Given the description of an element on the screen output the (x, y) to click on. 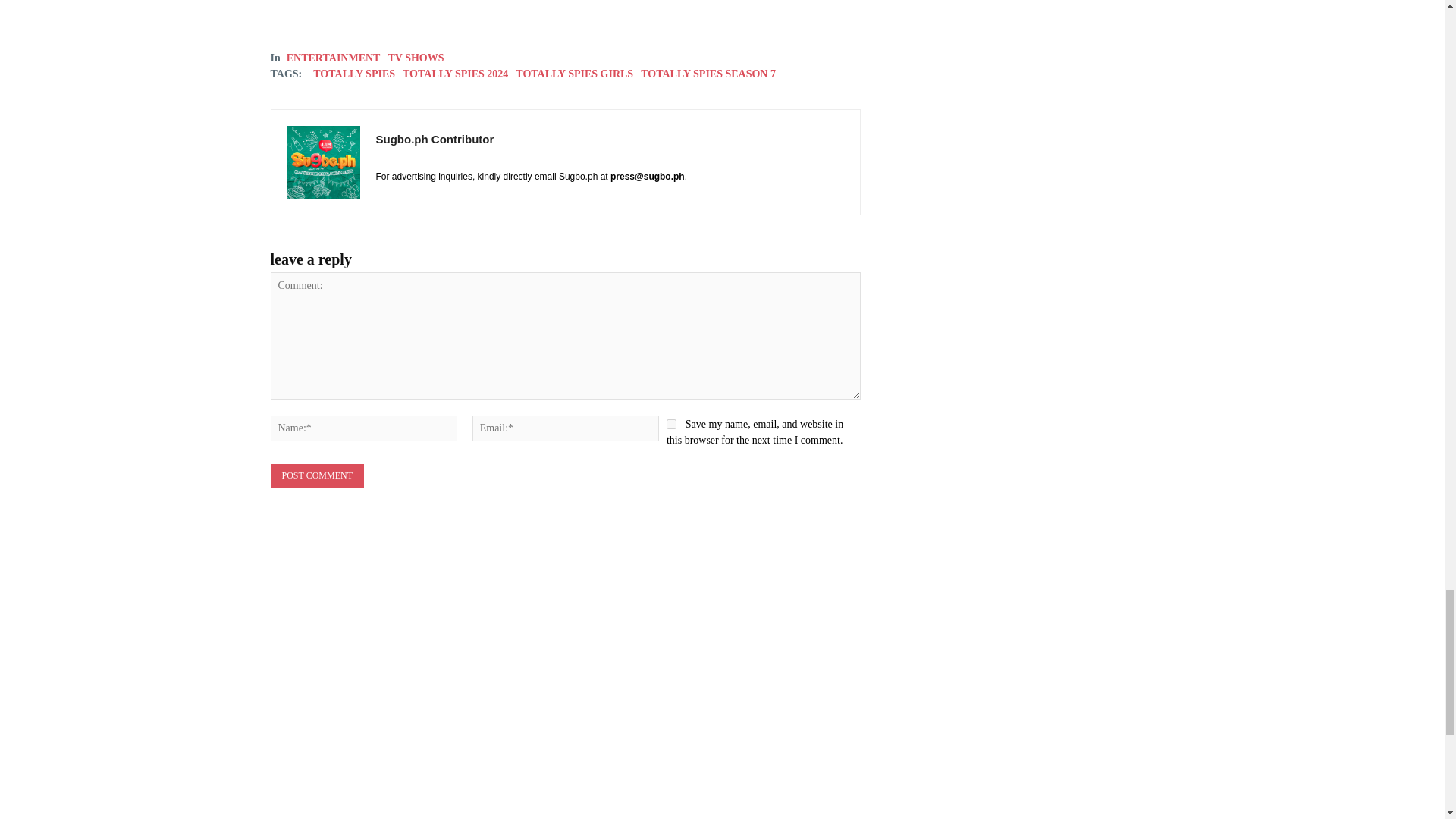
Post Comment (315, 475)
yes (671, 424)
